Given the description of an element on the screen output the (x, y) to click on. 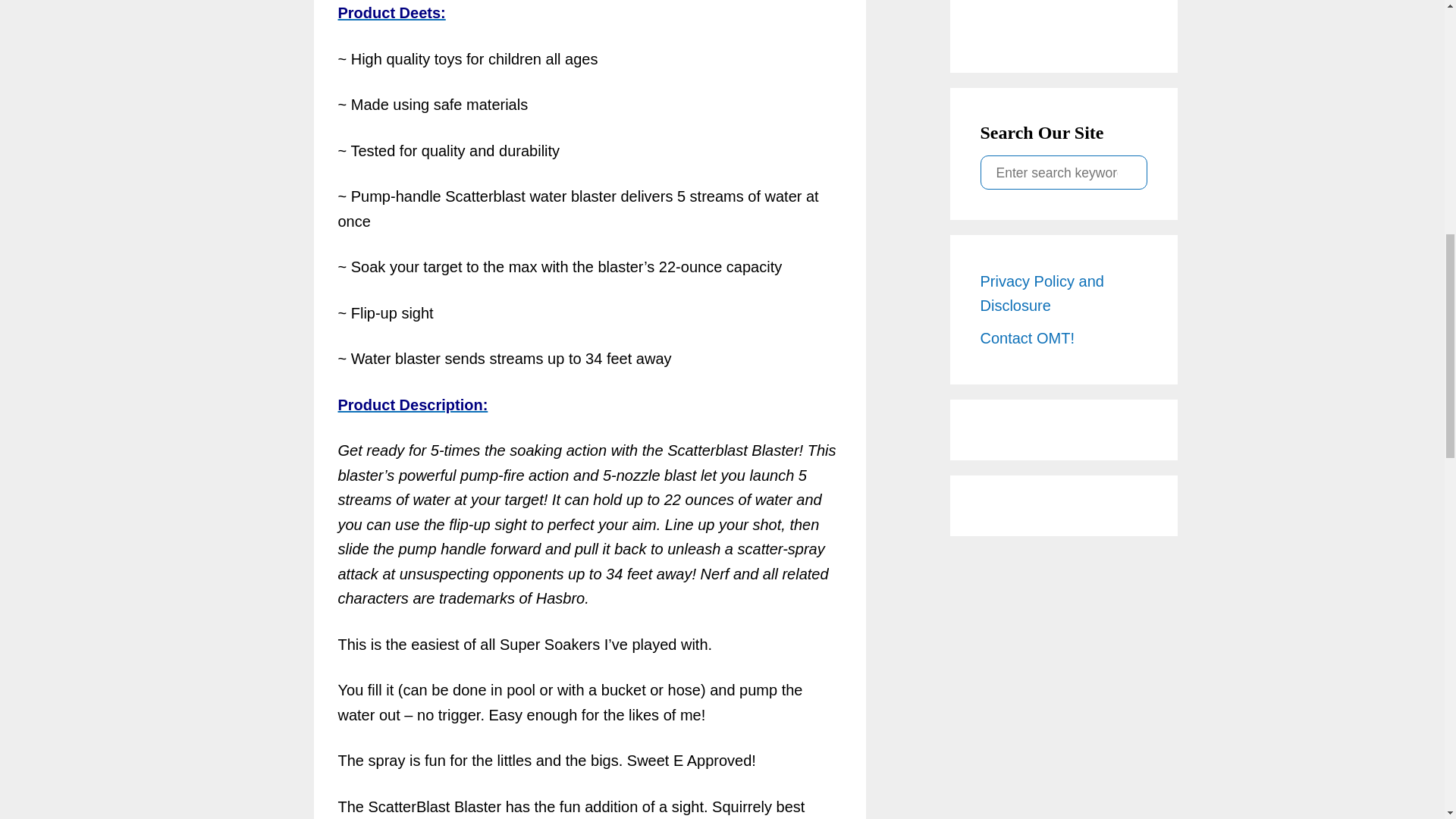
Search for: (1063, 171)
Product Description: (412, 404)
Product Deets: (391, 12)
